Given the description of an element on the screen output the (x, y) to click on. 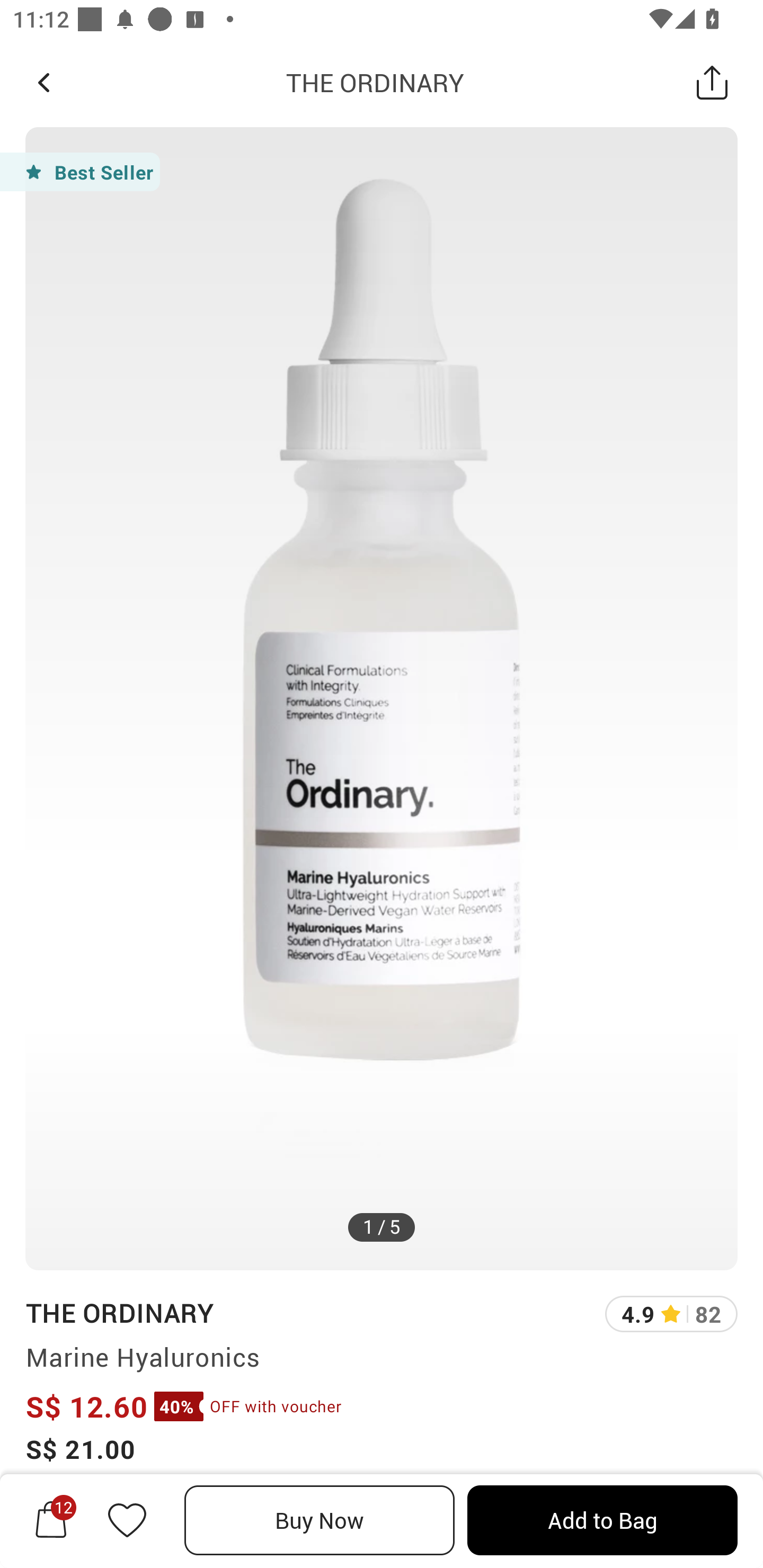
THE ORDINARY (375, 82)
Share this Product (711, 82)
THE ORDINARY (119, 1312)
4.9 82 (671, 1313)
Buy Now (319, 1519)
Add to Bag (601, 1519)
12 (50, 1520)
